Given the description of an element on the screen output the (x, y) to click on. 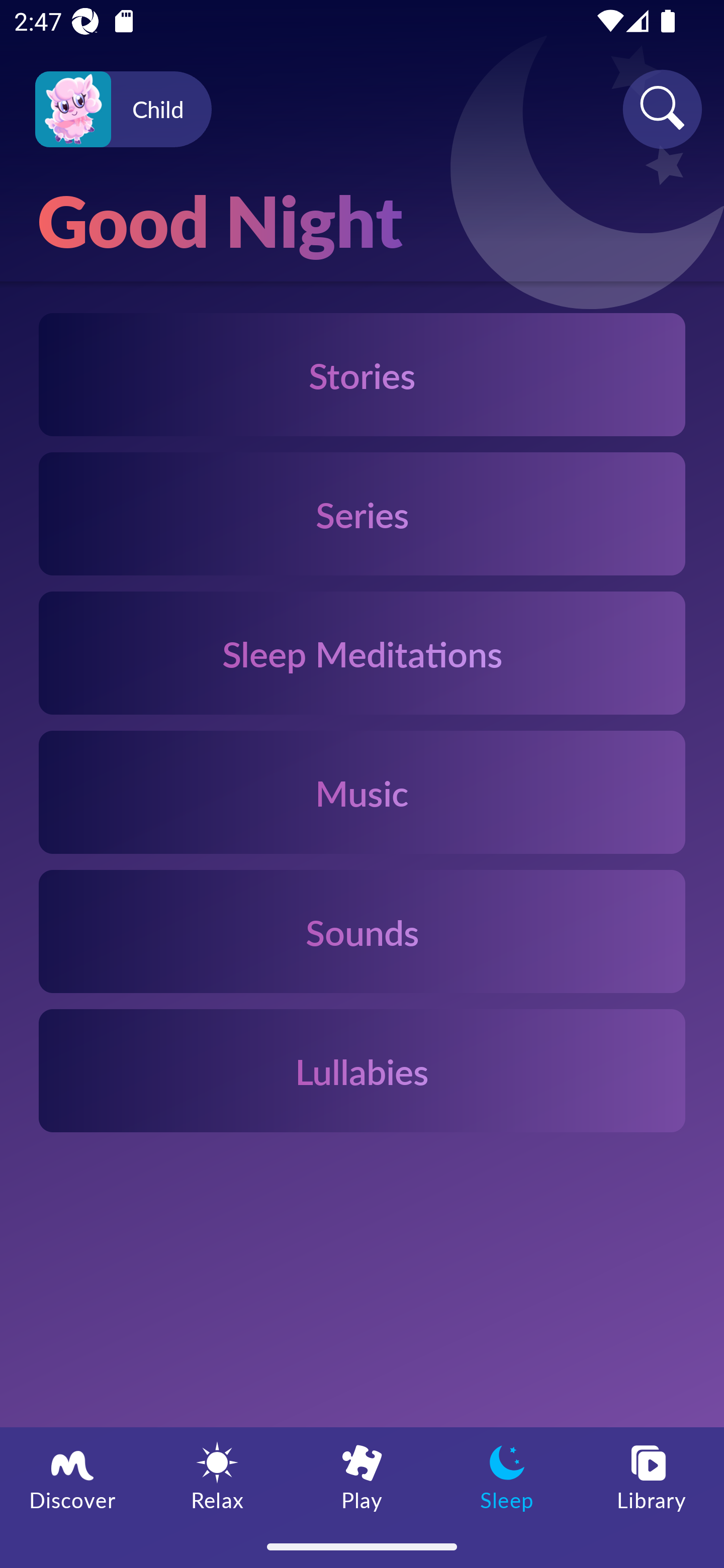
Profile icon Child (123, 109)
Stories (361, 373)
Series (361, 513)
Sleep Meditations (361, 653)
Music (361, 792)
Sounds (361, 932)
Lullabies (361, 1070)
Discover (72, 1475)
Relax (216, 1475)
Play (361, 1475)
Library (651, 1475)
